Given the description of an element on the screen output the (x, y) to click on. 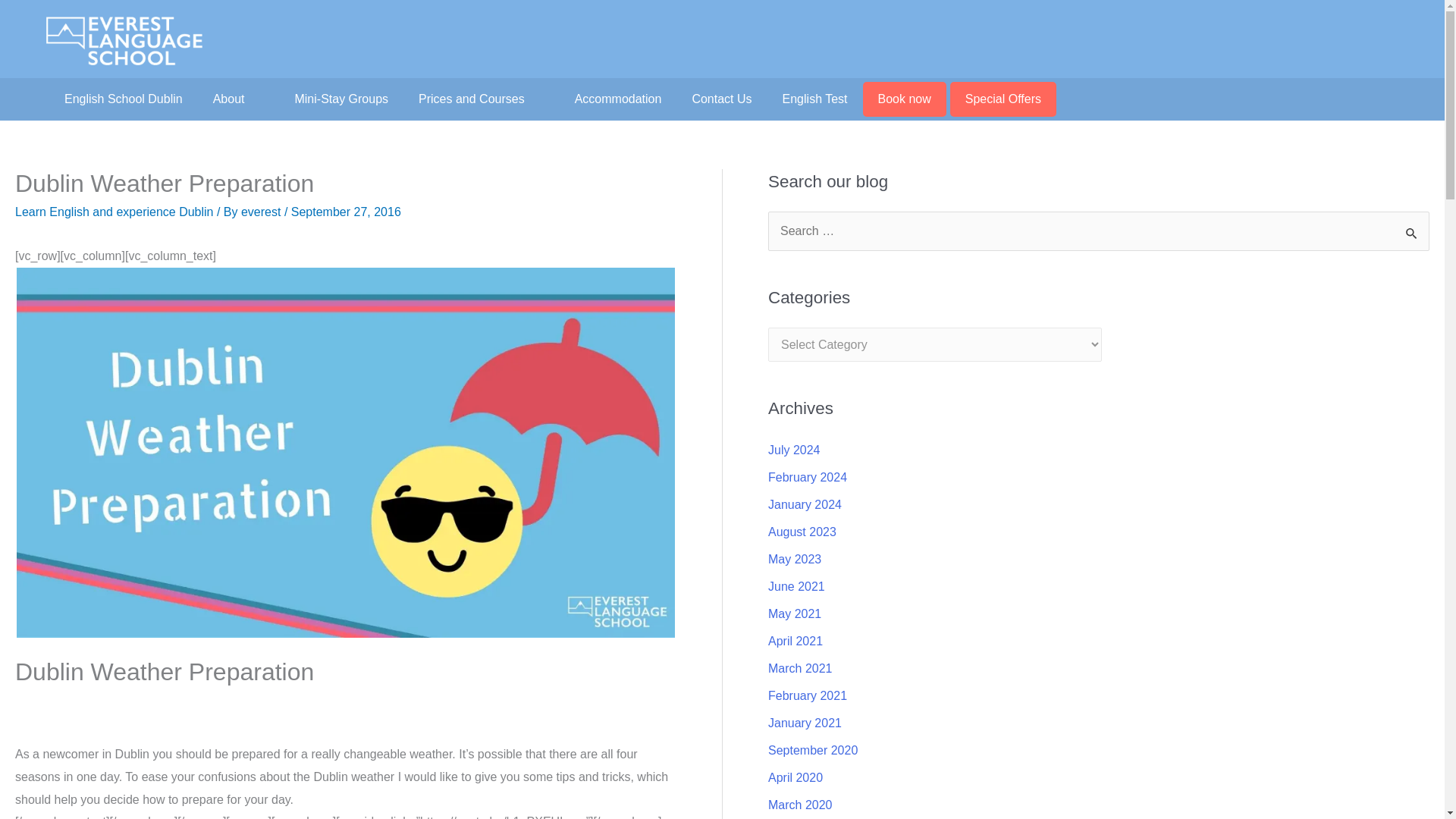
View all posts by everest (262, 211)
